Given the description of an element on the screen output the (x, y) to click on. 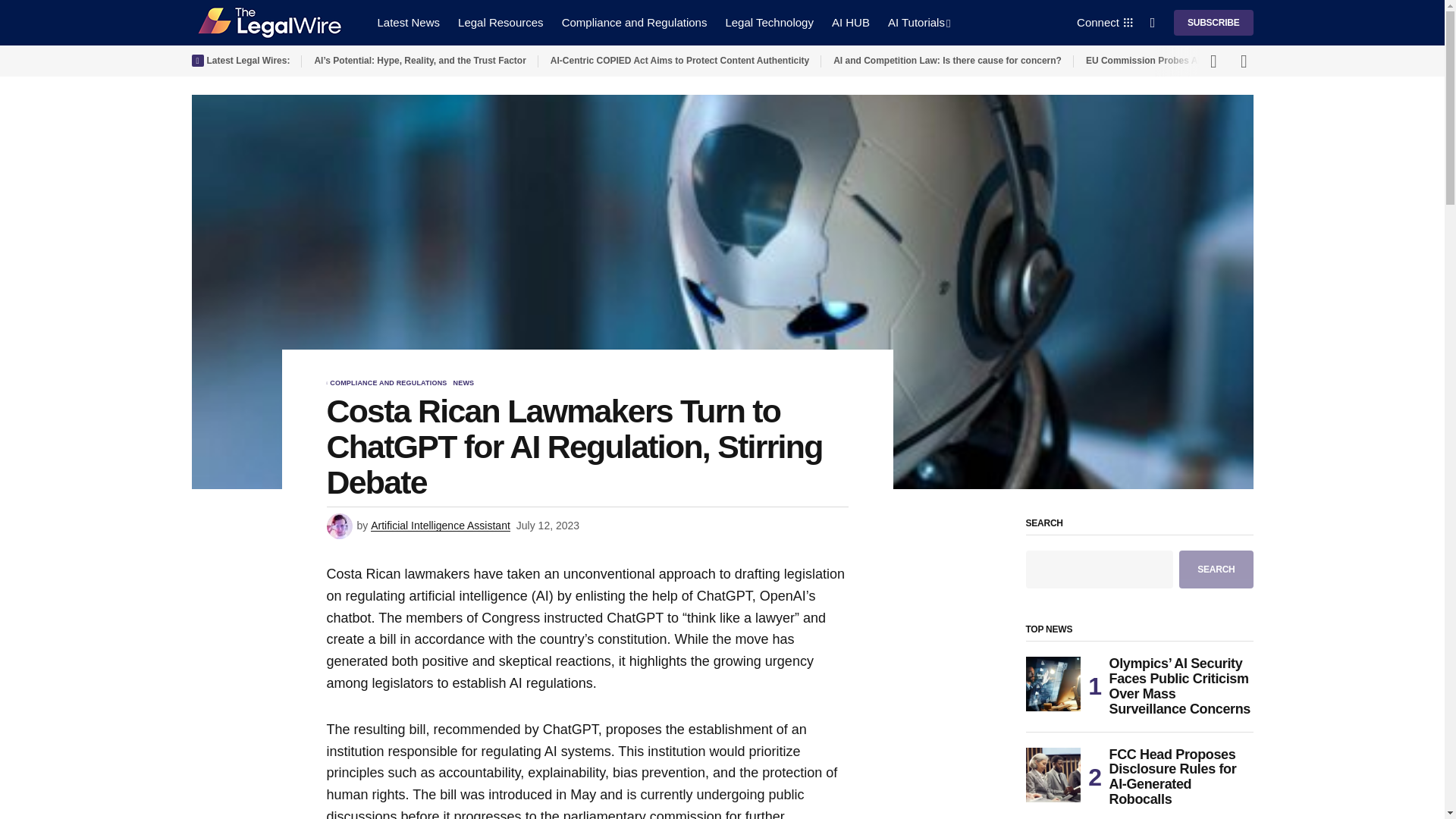
Legal Resources (500, 22)
Legal Technology (769, 22)
Compliance and Regulations (634, 22)
AI HUB (850, 22)
Latest News (408, 22)
AI Tutorials (919, 22)
